Given the description of an element on the screen output the (x, y) to click on. 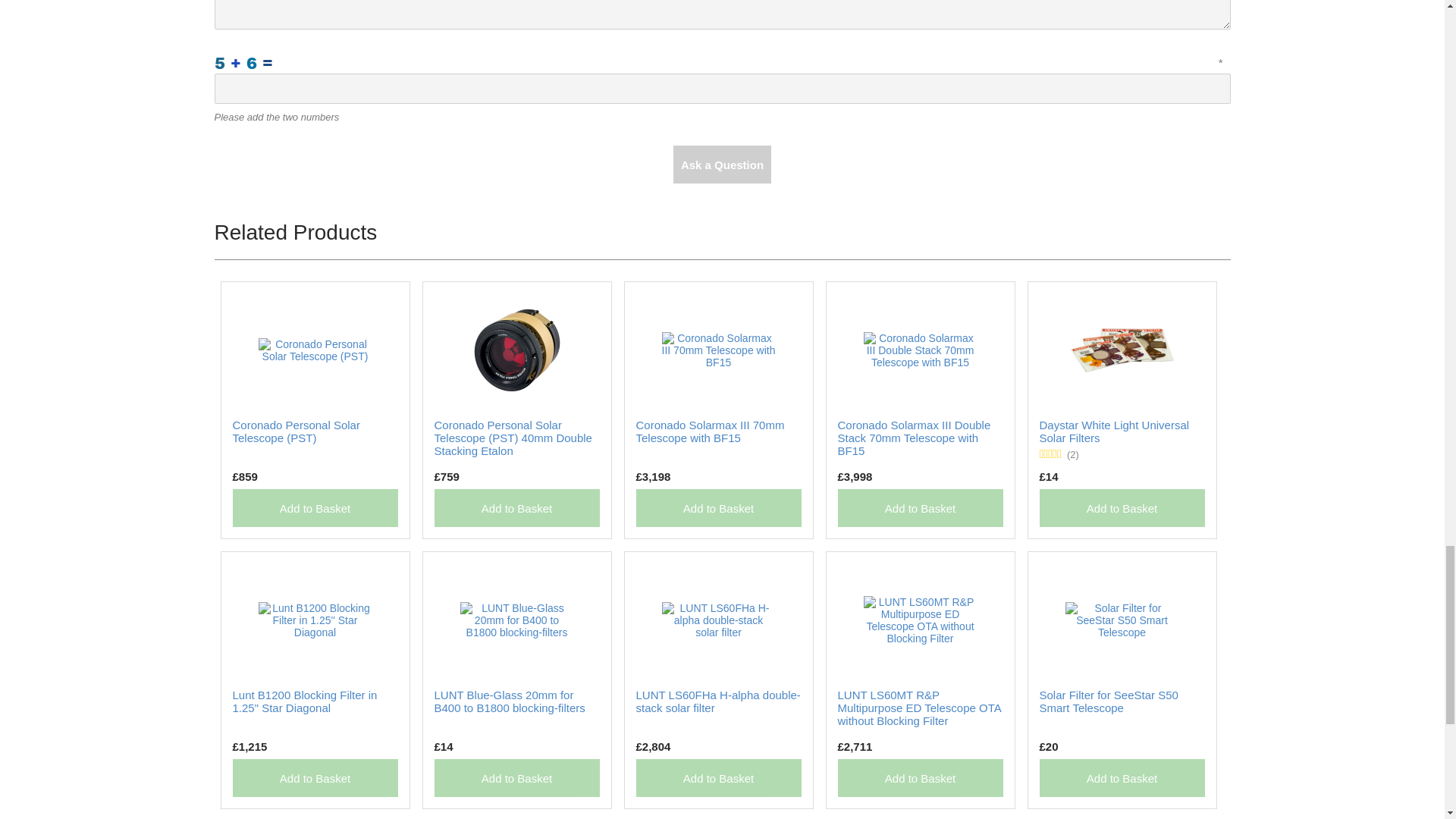
Add to Basket (920, 507)
Coronado Solarmax III Double Stack 70mm Telescope with BF15 (913, 437)
Ask a Question (721, 164)
Lunt B1200 Blocking Filter in 1.25" Star Diagonal (304, 701)
Coronado Solarmax III Double Stack 70mm Telescope with BF15 (913, 437)
Coronado Solarmax III 70mm Telescope with BF15 (709, 431)
Daystar White Light Universal Solar Filters (1114, 431)
Coronado Solarmax III Double Stack 70mm Telescope with BF15 (919, 349)
Coronado Solarmax III 70mm Telescope with BF15 (717, 349)
Add to Basket (1121, 507)
Coronado Solarmax III 70mm Telescope with BF15 (709, 431)
Add to Basket (314, 777)
Daystar White Light Universal Solar Filters (1120, 349)
Add to Basket (314, 507)
Daystar White Light Universal Solar Filters (1114, 431)
